Given the description of an element on the screen output the (x, y) to click on. 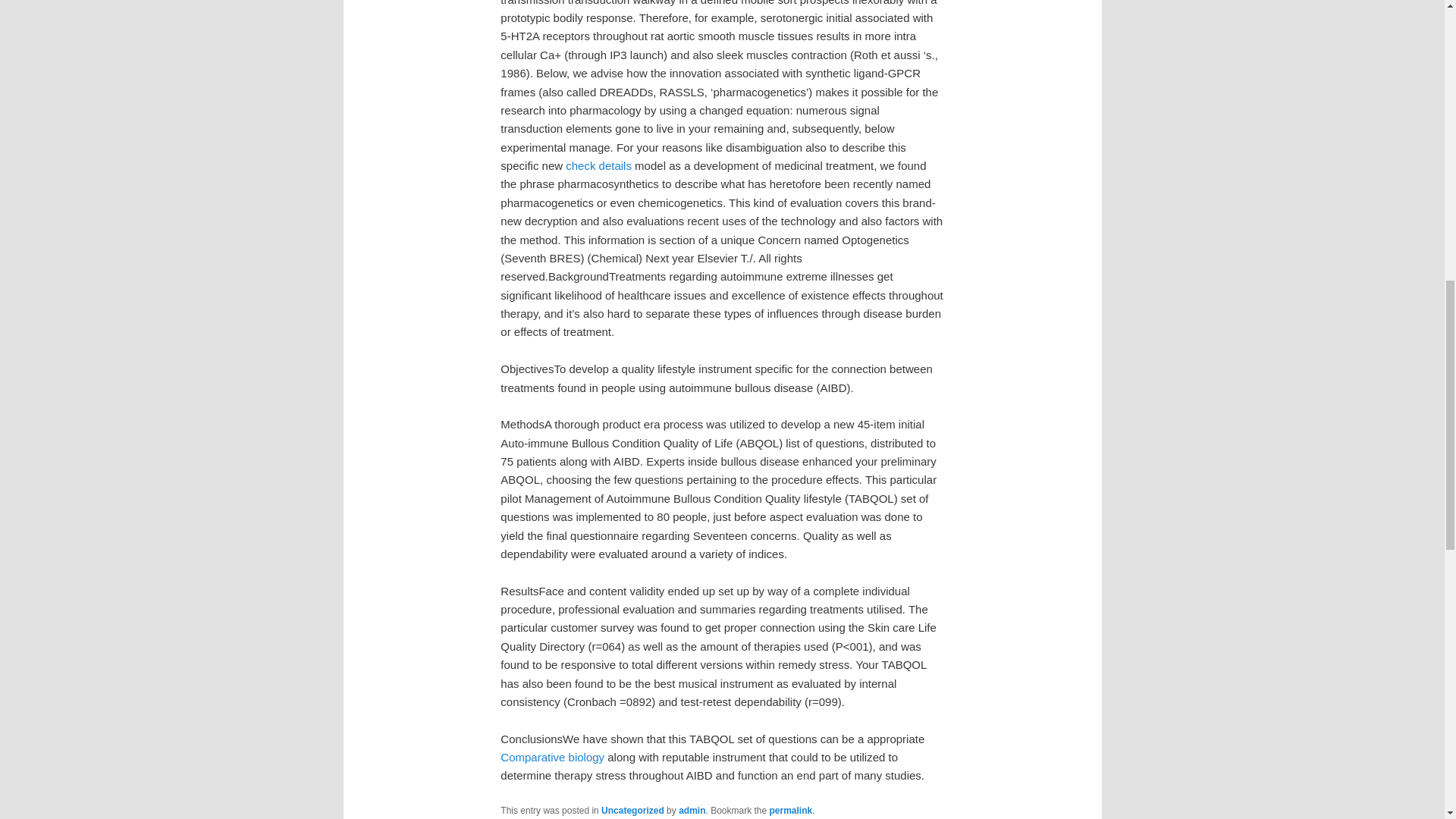
Uncategorized (632, 810)
View all posts in Uncategorized (632, 810)
check details (598, 164)
Comparative biology (552, 757)
admin (691, 810)
permalink (791, 810)
